Given the description of an element on the screen output the (x, y) to click on. 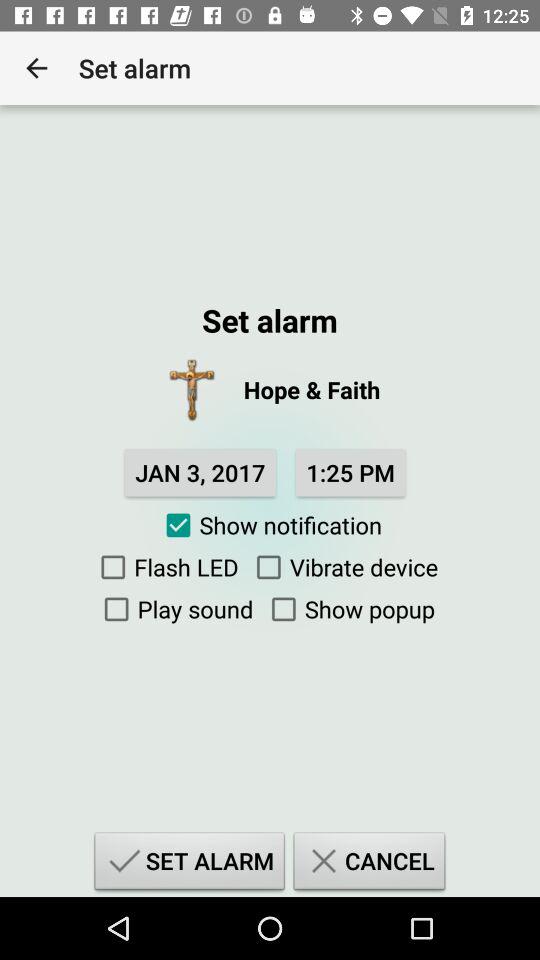
scroll to flash led icon (165, 567)
